Given the description of an element on the screen output the (x, y) to click on. 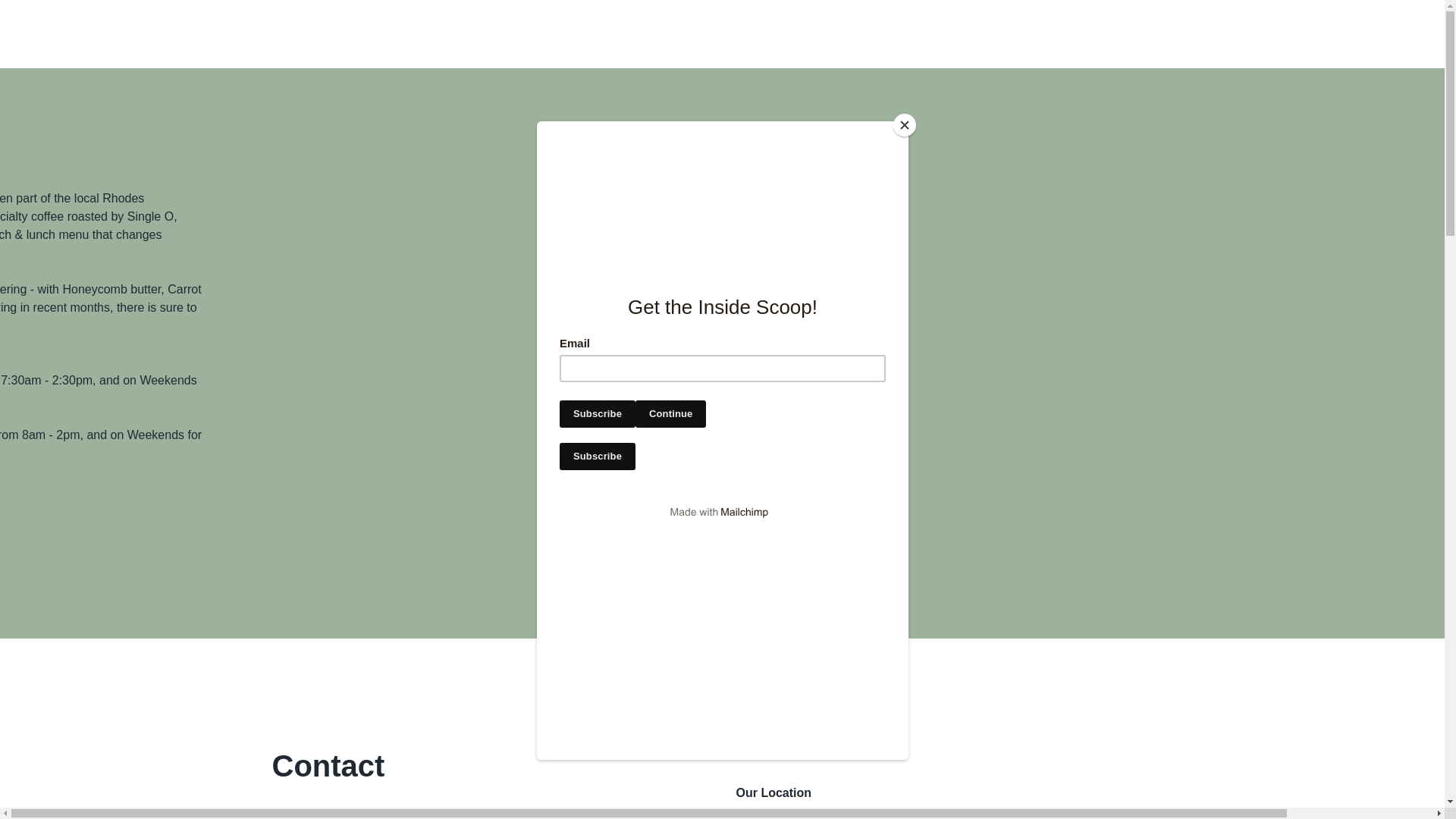
Summer Menu 2023 Element type: text (721, 675)
Book a table now Element type: text (722, 533)
